Given the description of an element on the screen output the (x, y) to click on. 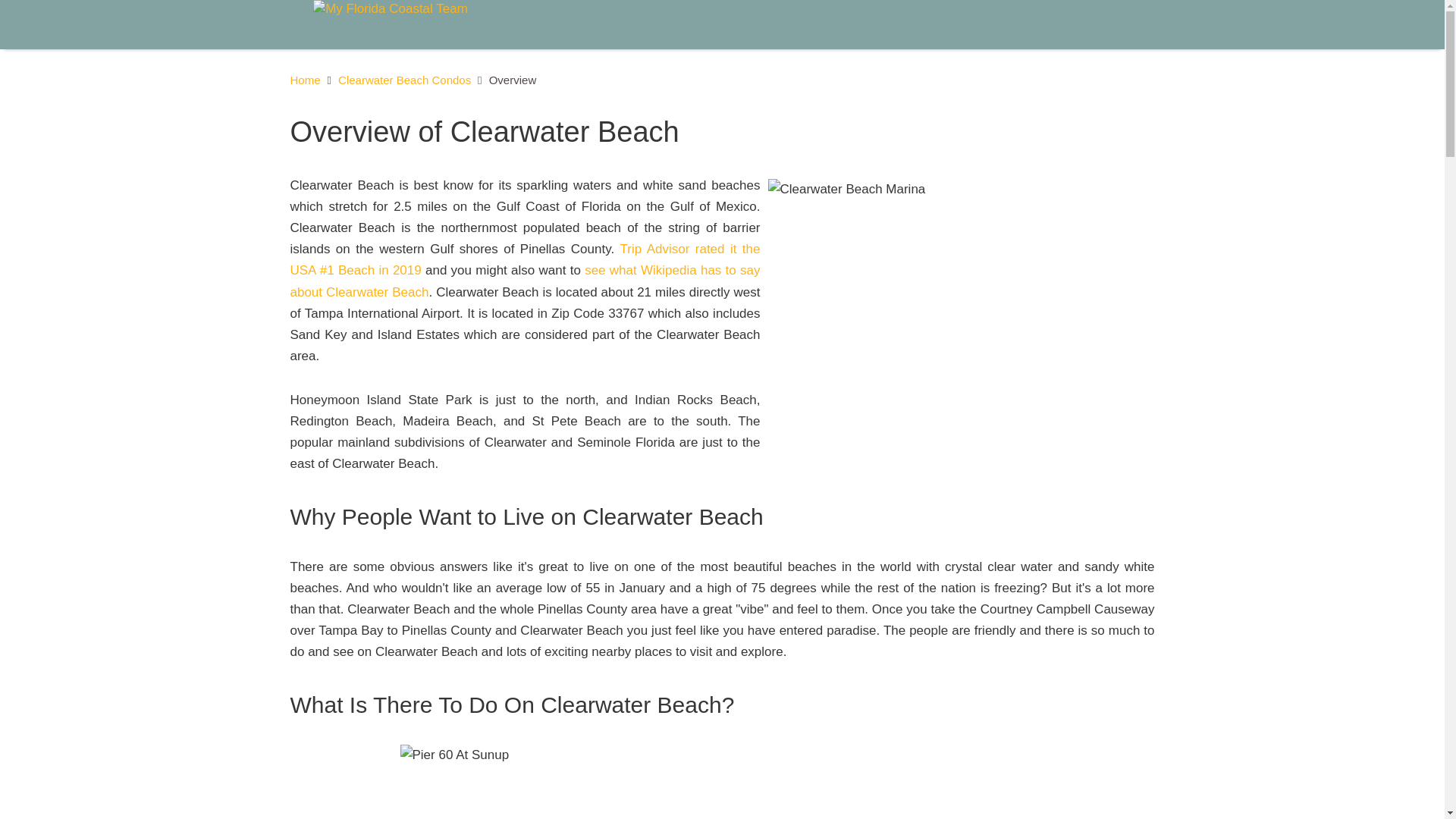
Visit the Wikipedia write-up about Clearwater Beach (524, 280)
Pier 60 At Sunup (722, 781)
Clearwater Beach Marina (957, 305)
See the Tampa Bay Times Website (524, 259)
